Given the description of an element on the screen output the (x, y) to click on. 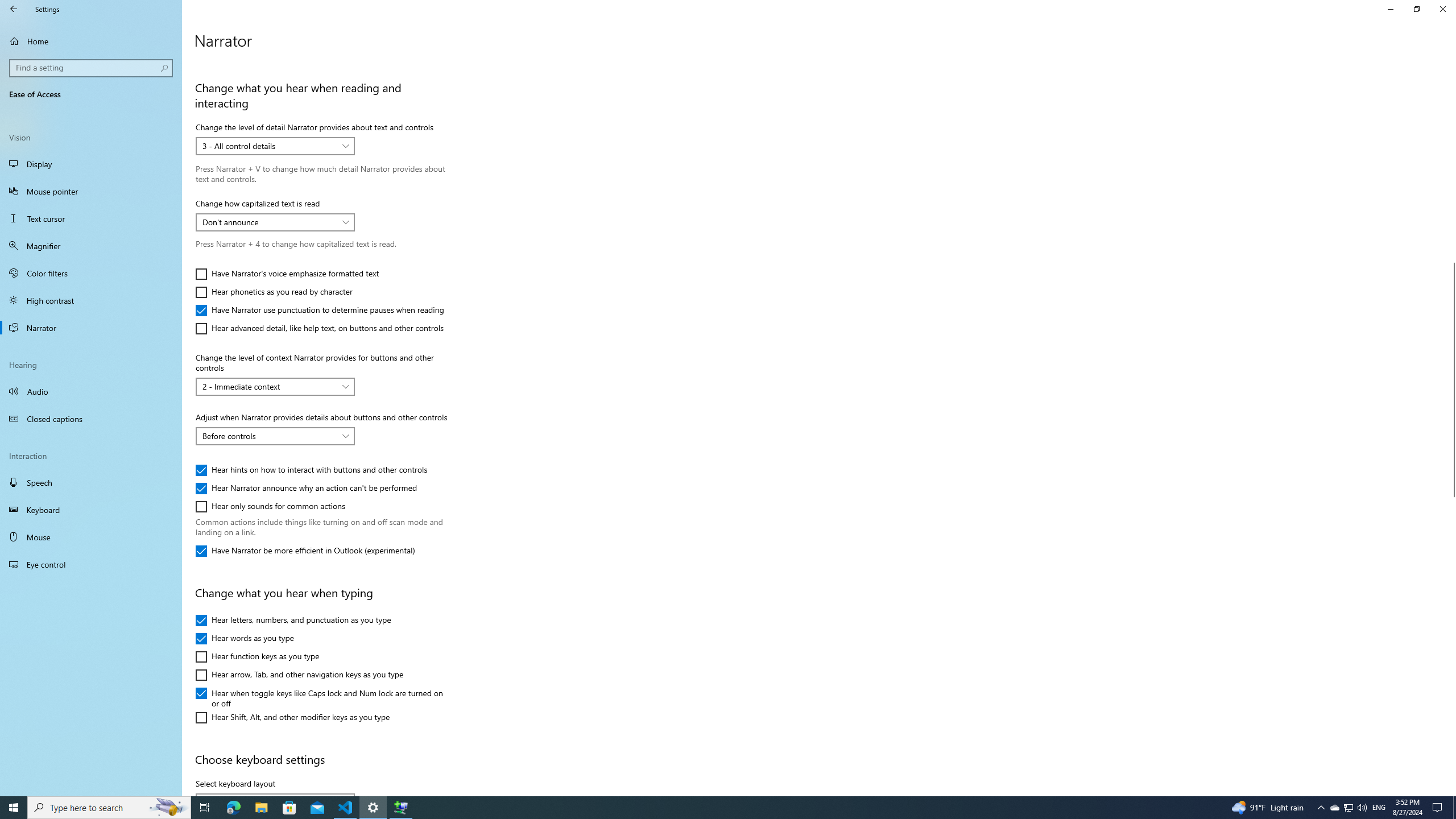
Notification Chevron (1320, 807)
Change how capitalized text is read (275, 221)
Mouse (91, 536)
Magnifier (91, 245)
Keyboard (91, 509)
User Promoted Notification Area (1347, 807)
Hear phonetics as you read by character (273, 292)
Vertical Large Decrease (1451, 162)
Text cursor (91, 217)
Have Narrator be more efficient in Outlook (experimental) (304, 551)
3 - All control details (269, 145)
